Given the description of an element on the screen output the (x, y) to click on. 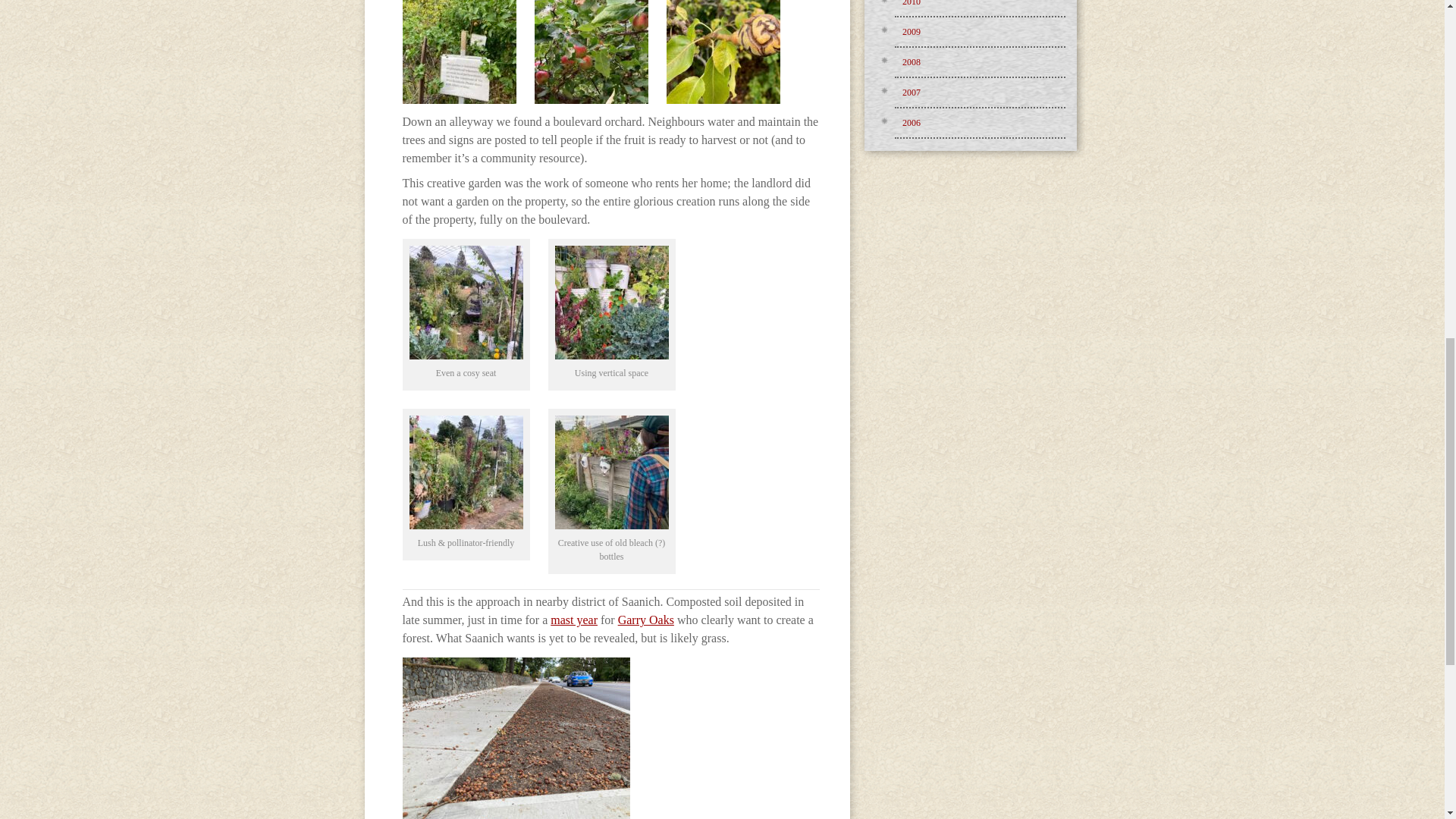
Garry Oaks (645, 619)
mast year (573, 619)
